Given the description of an element on the screen output the (x, y) to click on. 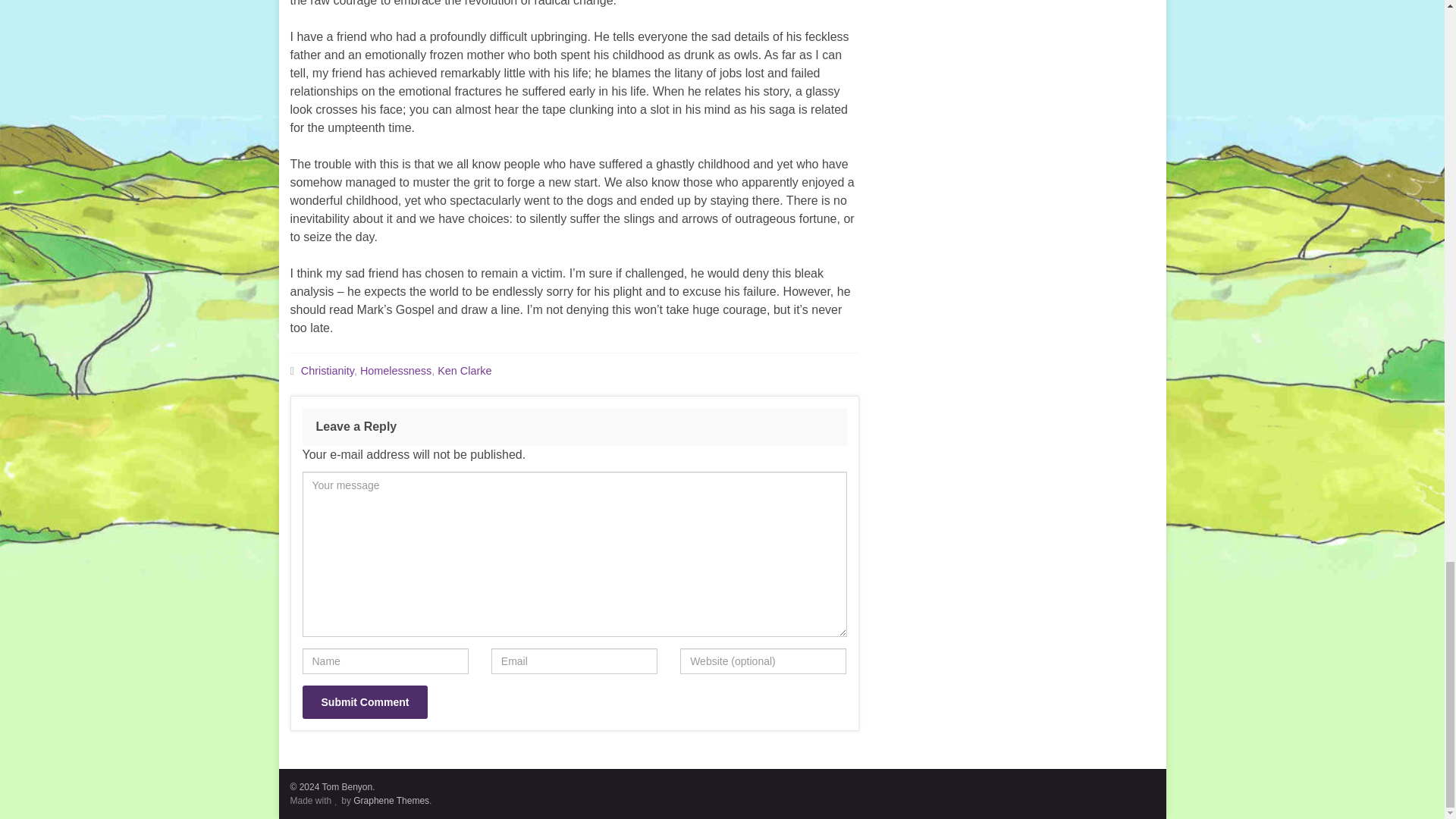
Graphene Themes (391, 800)
Homelessness (394, 370)
Ken Clarke (465, 370)
Christianity (327, 370)
Submit Comment (364, 702)
Submit Comment (364, 702)
